Given the description of an element on the screen output the (x, y) to click on. 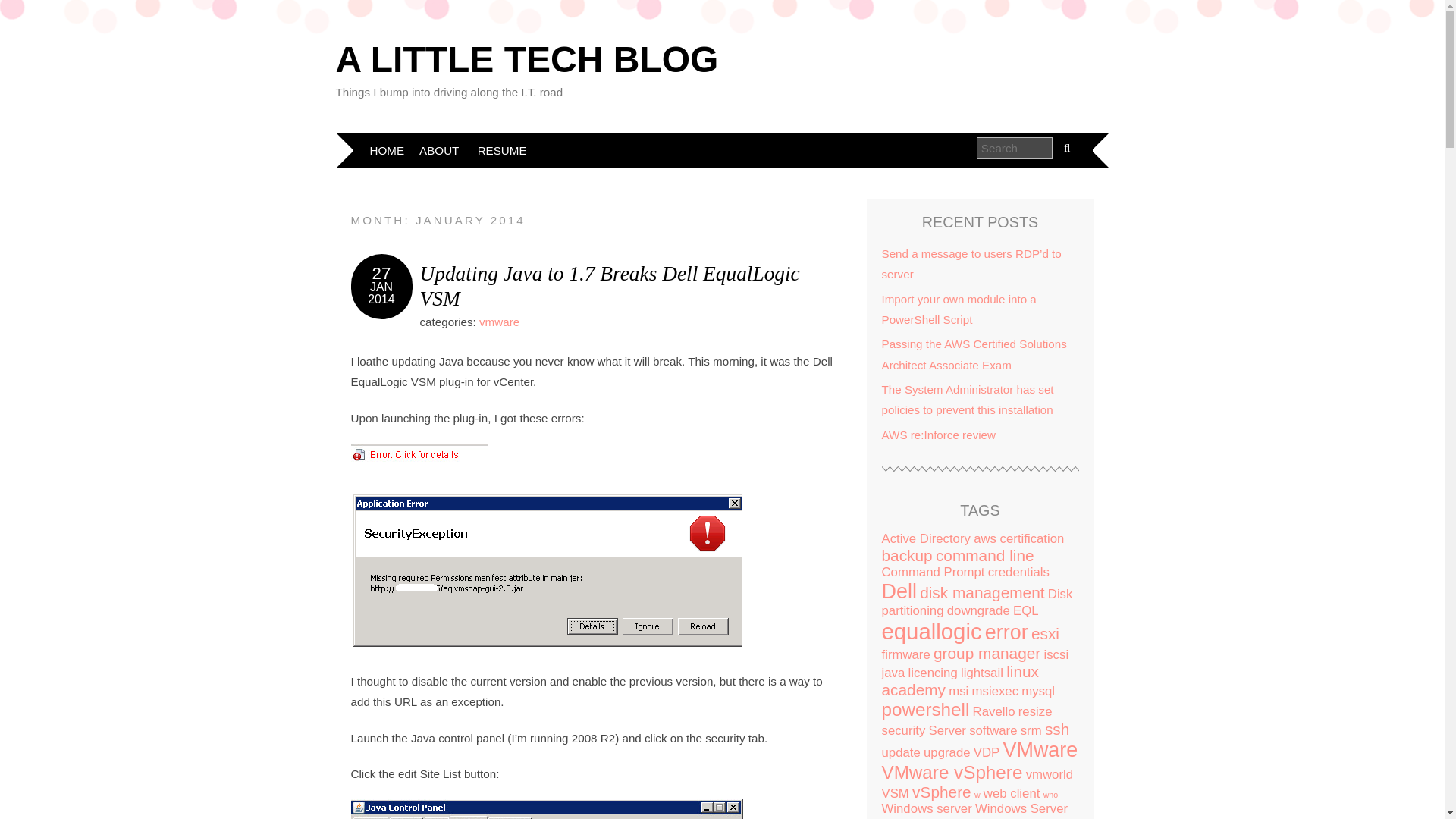
Updating Java to 1.7 Breaks Dell EqualLogic VSM (609, 286)
HOME (387, 150)
ABOUT (438, 150)
vmware (499, 321)
RESUME (502, 150)
A LITTLE TECH BLOG (525, 59)
27 (381, 272)
